Given the description of an element on the screen output the (x, y) to click on. 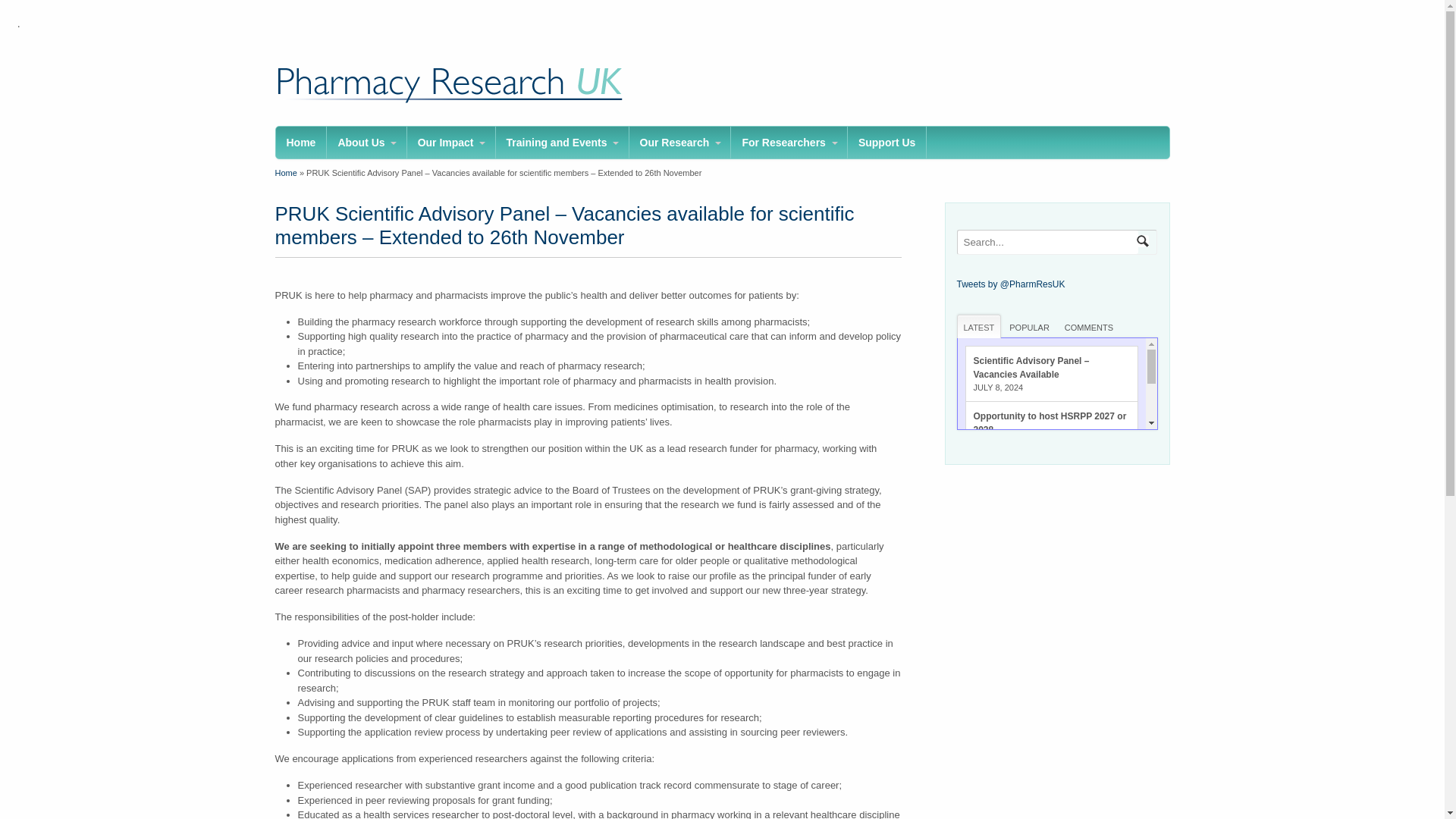
For Researchers (788, 142)
Our Impact (451, 142)
Training and Events (562, 142)
Opportunity to host HSRPP 2027 or 2028 (1050, 422)
Funding opportunities for Pharmacy Technicians (1029, 478)
Our Research (679, 142)
Support Us (886, 142)
Search... (1047, 241)
LATEST (978, 325)
